Given the description of an element on the screen output the (x, y) to click on. 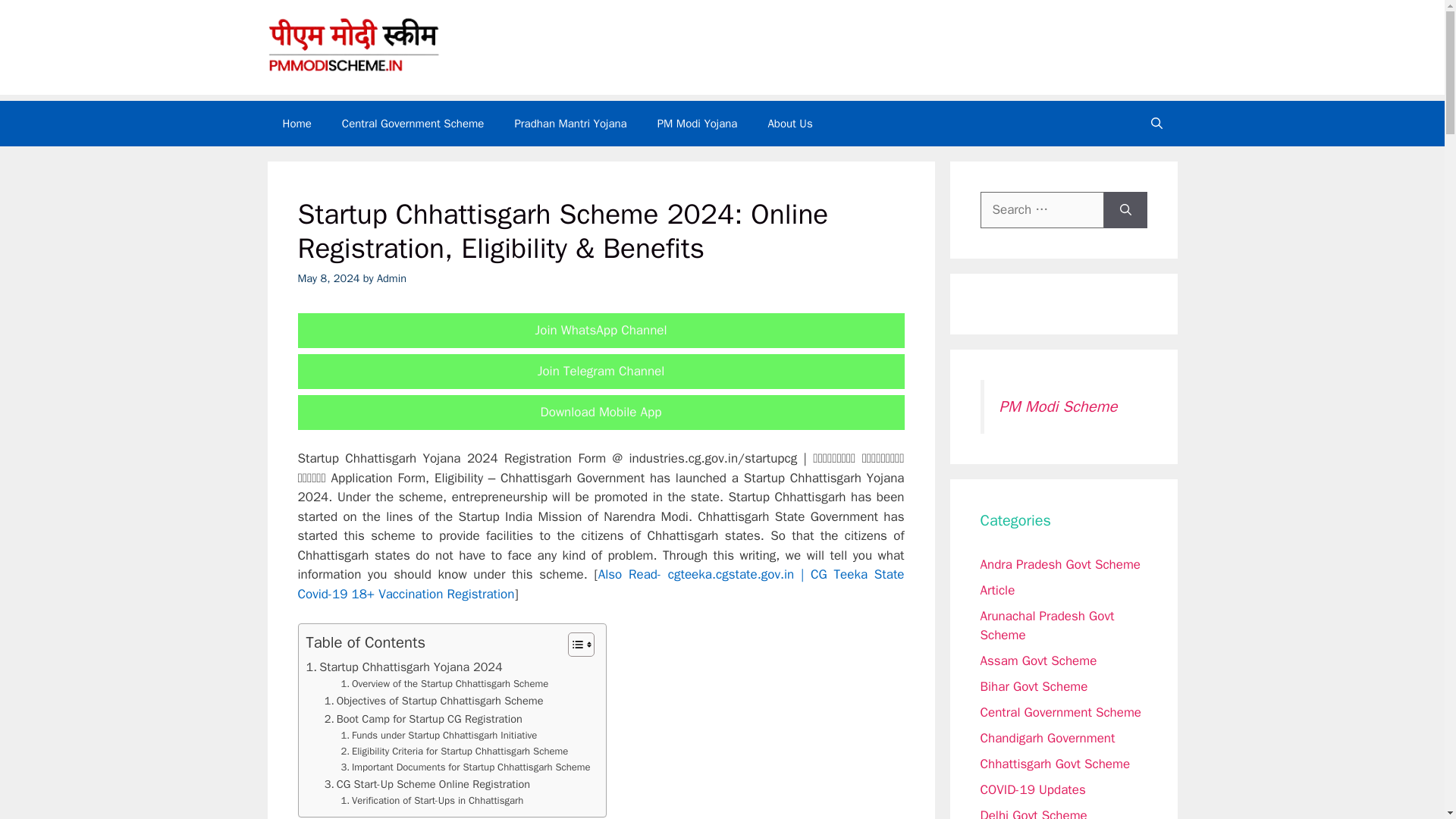
Join Telegram Channel (600, 371)
Overview of the Startup Chhattisgarh Scheme (444, 684)
PM Modi Yojana (697, 123)
Important Documents for Startup Chhattisgarh Scheme (465, 767)
CG Start-Up Scheme Online Registration (426, 784)
Eligibility Criteria for Startup Chhattisgarh Scheme (454, 751)
Objectives of Startup Chhattisgarh Scheme (433, 701)
Important Documents for Startup Chhattisgarh Scheme (465, 767)
Boot Camp for Startup CG Registration (423, 719)
Startup Chhattisgarh Yojana 2024 (403, 667)
CG Start-Up Scheme Online Registration (426, 784)
Funds under Startup Chhattisgarh Initiative (438, 735)
Overview of the Startup Chhattisgarh Scheme (444, 684)
Objectives of Startup Chhattisgarh Scheme (433, 701)
Funds under Startup Chhattisgarh Initiative (438, 735)
